Given the description of an element on the screen output the (x, y) to click on. 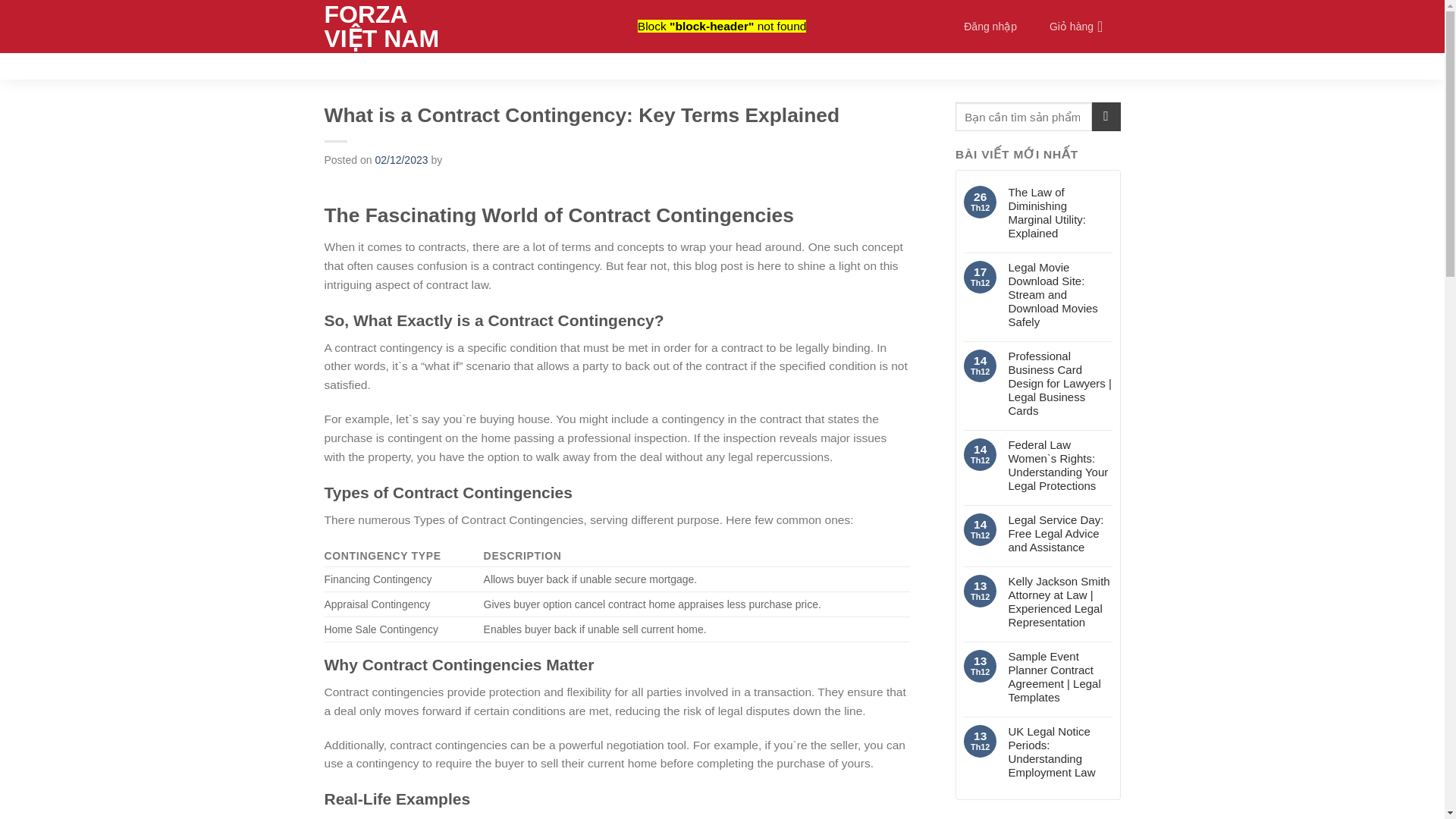
Legal Service Day: Free Legal Advice and Assistance (1059, 533)
Legal Movie Download Site: Stream and Download Movies Safely (1059, 295)
Legal Movie Download Site: Stream and Download Movies Safely (1059, 295)
UK Legal Notice Periods: Understanding Employment Law (1059, 751)
The Law of Diminishing Marginal Utility: Explained (1059, 212)
The Law of Diminishing Marginal Utility: Explained (1059, 212)
